Given the description of an element on the screen output the (x, y) to click on. 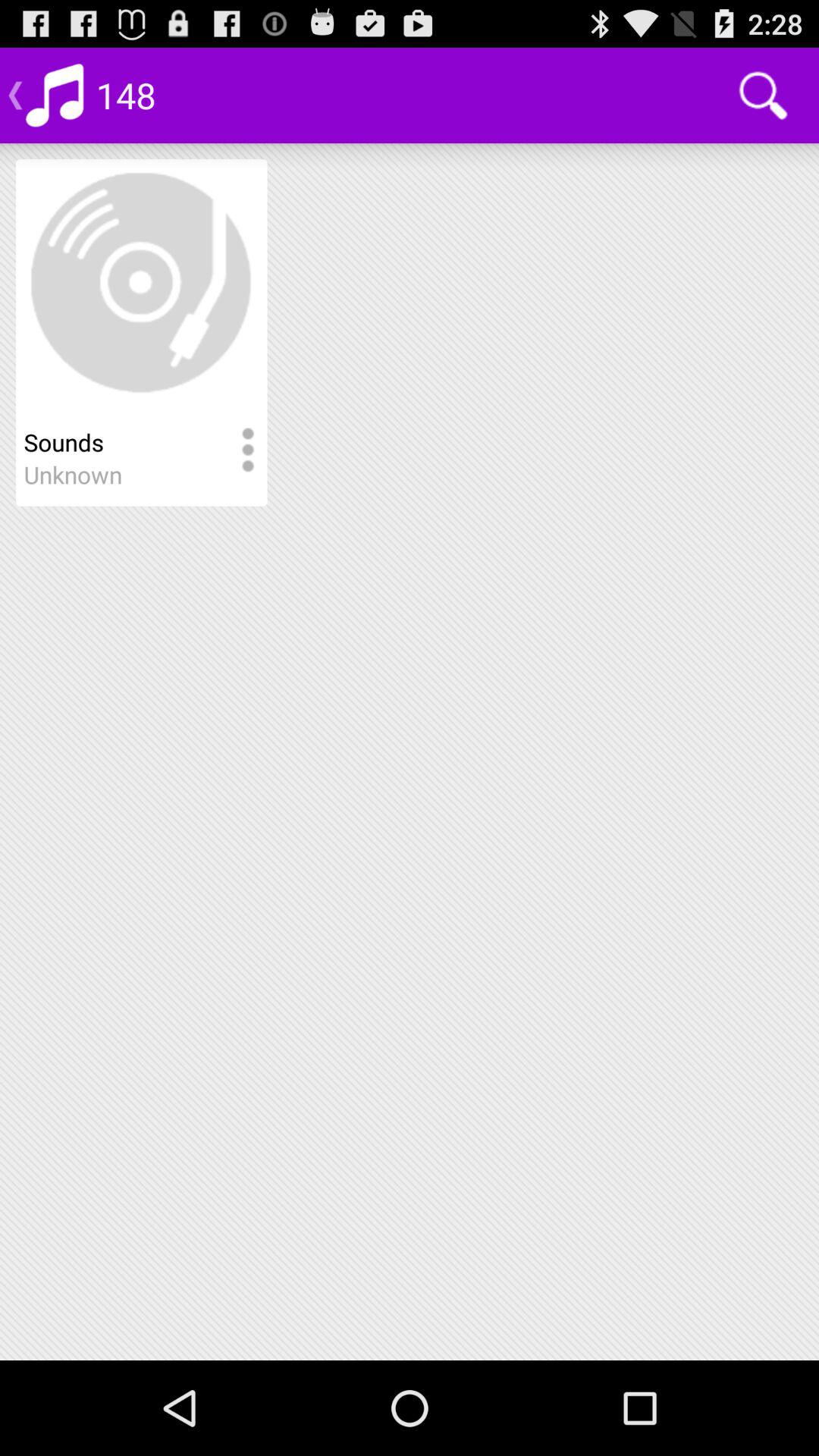
turn on the item at the top right corner (763, 95)
